Given the description of an element on the screen output the (x, y) to click on. 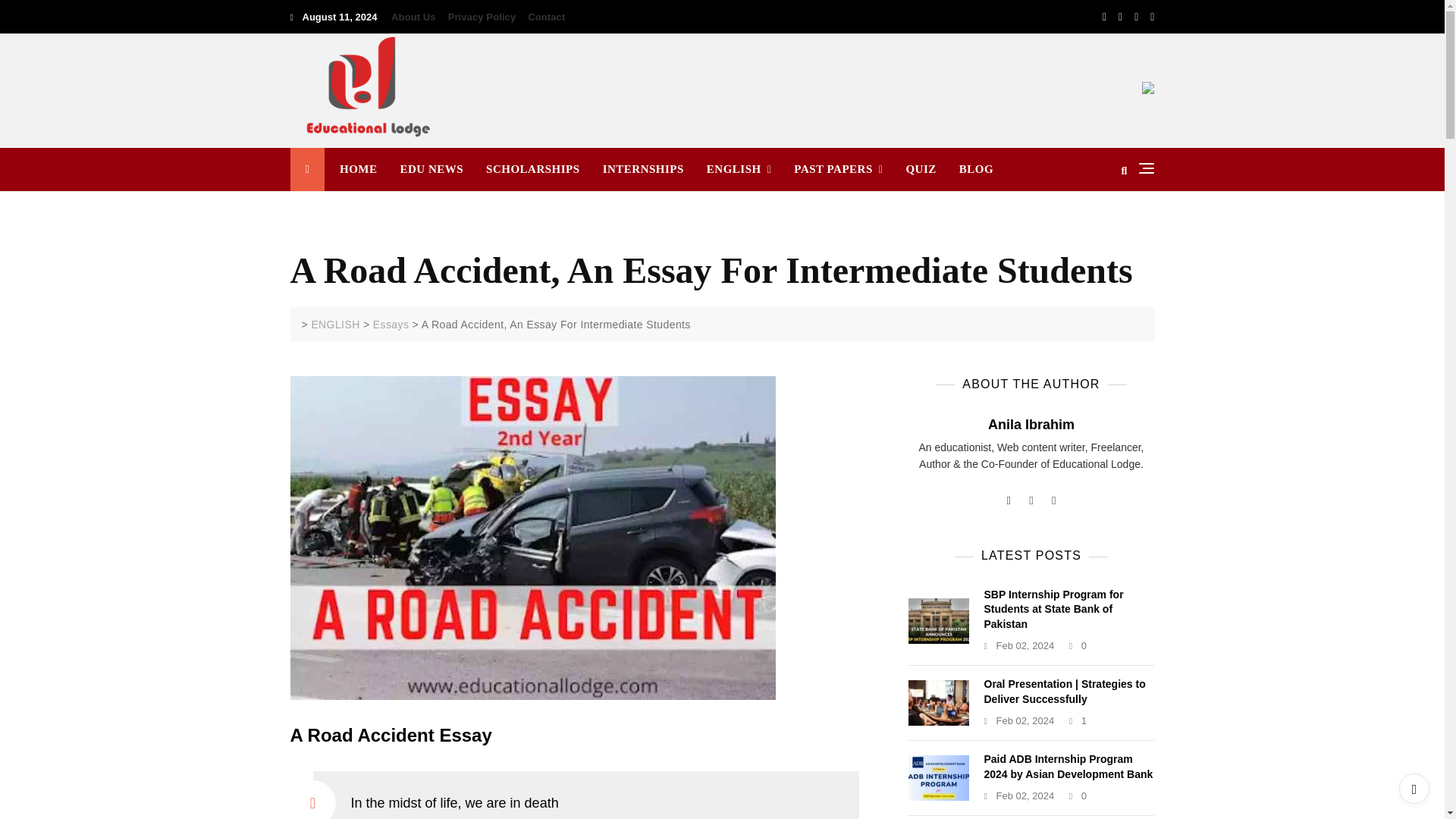
ENGLISH (739, 169)
INTERNSHIPS (643, 169)
EDU NEWS (431, 169)
QUIZ (920, 169)
Go to the Essays Category archives. (390, 324)
Privacy Policy (482, 17)
Contact (542, 17)
HOME (363, 169)
BLOG (969, 169)
